Given the description of an element on the screen output the (x, y) to click on. 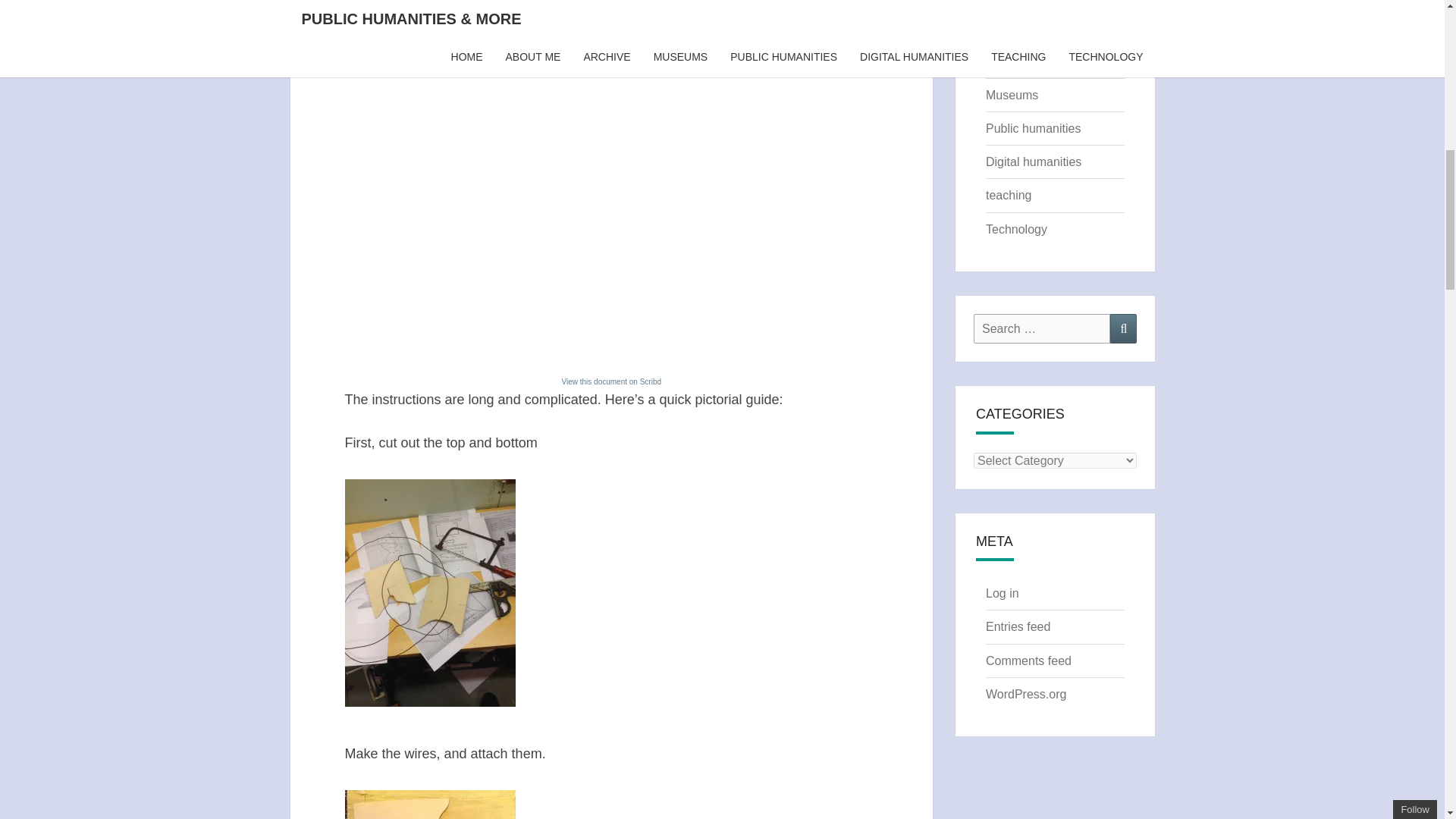
Sign up! (1361, 87)
Search for: (1041, 328)
View this document on Scribd (610, 381)
